Given the description of an element on the screen output the (x, y) to click on. 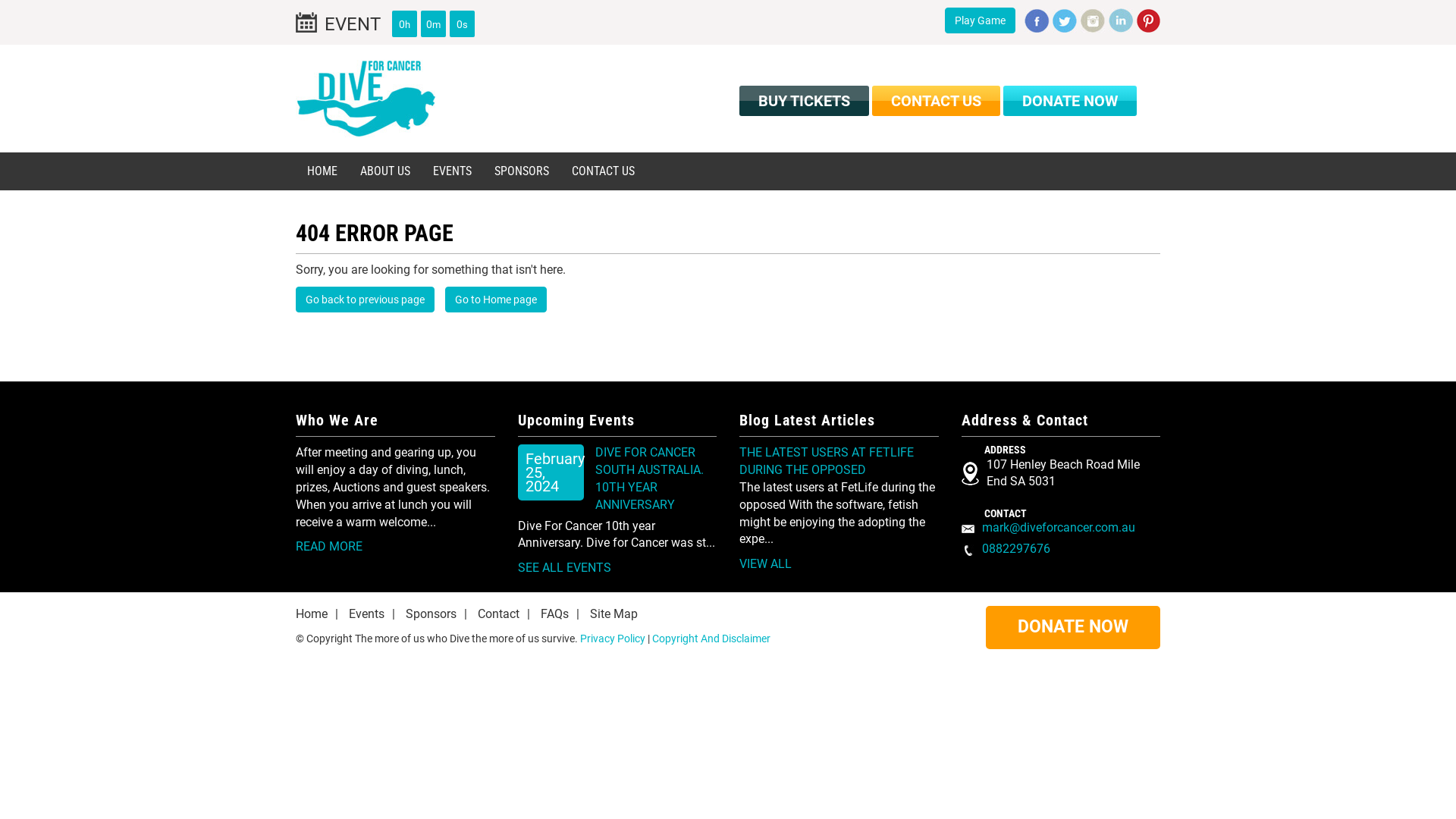
Site Map Element type: text (613, 614)
EVENTS Element type: text (452, 171)
DIVE FOR CANCER SOUTH AUSTRALIA. 10TH YEAR ANNIVERSARY Element type: text (649, 478)
0882297676 Element type: text (1015, 548)
CONTACT US Element type: text (936, 100)
Copyright And Disclaimer Element type: text (711, 638)
Contact Element type: text (498, 614)
DONATE NOW Element type: text (1072, 627)
DONATE NOW Element type: text (1069, 100)
THE LATEST USERS AT FETLIFE DURING THE OPPOSED Element type: text (826, 460)
Play Game Element type: text (979, 20)
VIEW ALL Element type: text (765, 563)
Home Element type: text (311, 614)
HOME Element type: text (321, 171)
Go back to previous page Element type: text (364, 299)
SEE ALL EVENTS Element type: text (563, 567)
Events Element type: text (366, 614)
BUY TICKETS Element type: text (804, 100)
Sponsors Element type: text (430, 614)
FAQs Element type: text (554, 614)
Go to Home page Element type: text (495, 299)
Privacy Policy Element type: text (612, 638)
ABOUT US Element type: text (384, 171)
READ MORE Element type: text (328, 546)
mark@diveforcancer.com.au Element type: text (1057, 527)
CONTACT US Element type: text (603, 171)
SPONSORS Element type: text (521, 171)
